Given the description of an element on the screen output the (x, y) to click on. 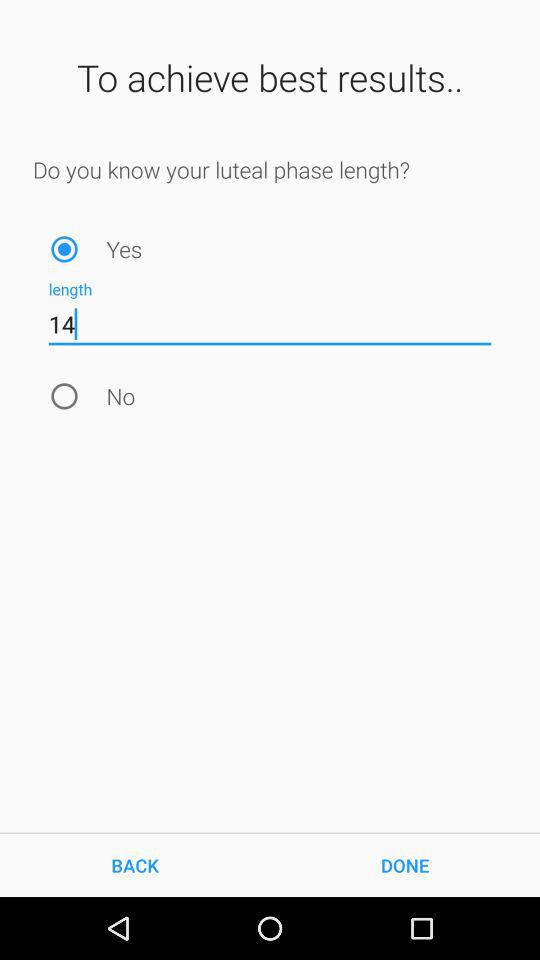
option no (64, 395)
